Given the description of an element on the screen output the (x, y) to click on. 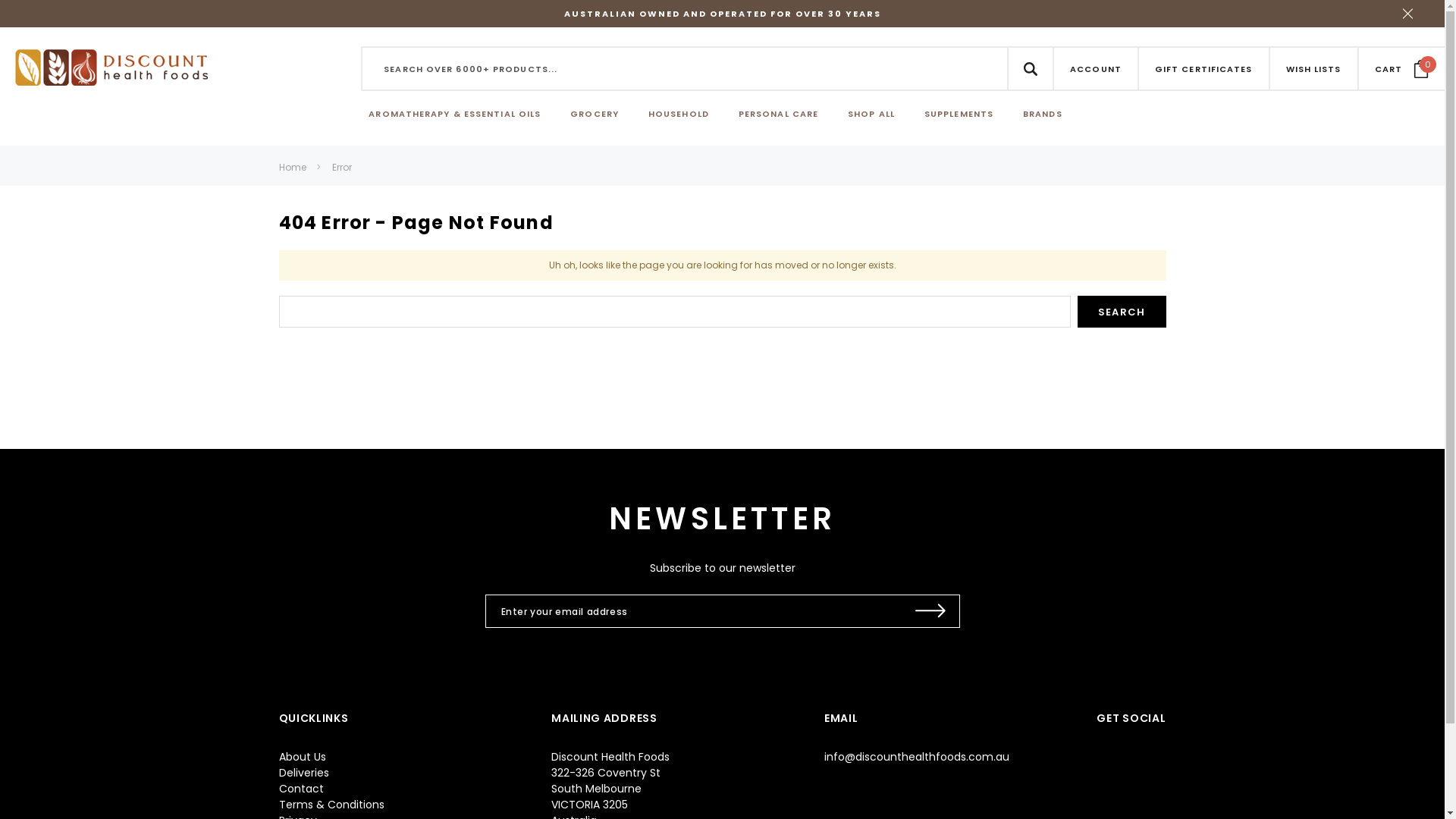
Search Element type: text (1121, 311)
GROCERY Element type: text (594, 114)
HOUSEHOLD Element type: text (678, 114)
About Us Element type: text (302, 756)
SHOP ALL Element type: text (870, 114)
Discount Health Foods Element type: hover (111, 66)
CART
0 Element type: text (1401, 68)
WISH LISTS Element type: text (1313, 68)
AROMATHERAPY & ESSENTIAL OILS Element type: text (454, 114)
Home Element type: text (292, 166)
info@discounthealthfoods.com.au Element type: text (916, 756)
SUPPLEMENTS Element type: text (958, 114)
Terms & Conditions Element type: text (331, 804)
ACCOUNT Element type: text (1095, 68)
BRANDS Element type: text (1042, 114)
Deliveries Element type: text (304, 772)
Contact Element type: text (301, 788)
PERSONAL CARE Element type: text (778, 114)
GIFT CERTIFICATES Element type: text (1203, 68)
Error Element type: text (341, 166)
